Given the description of an element on the screen output the (x, y) to click on. 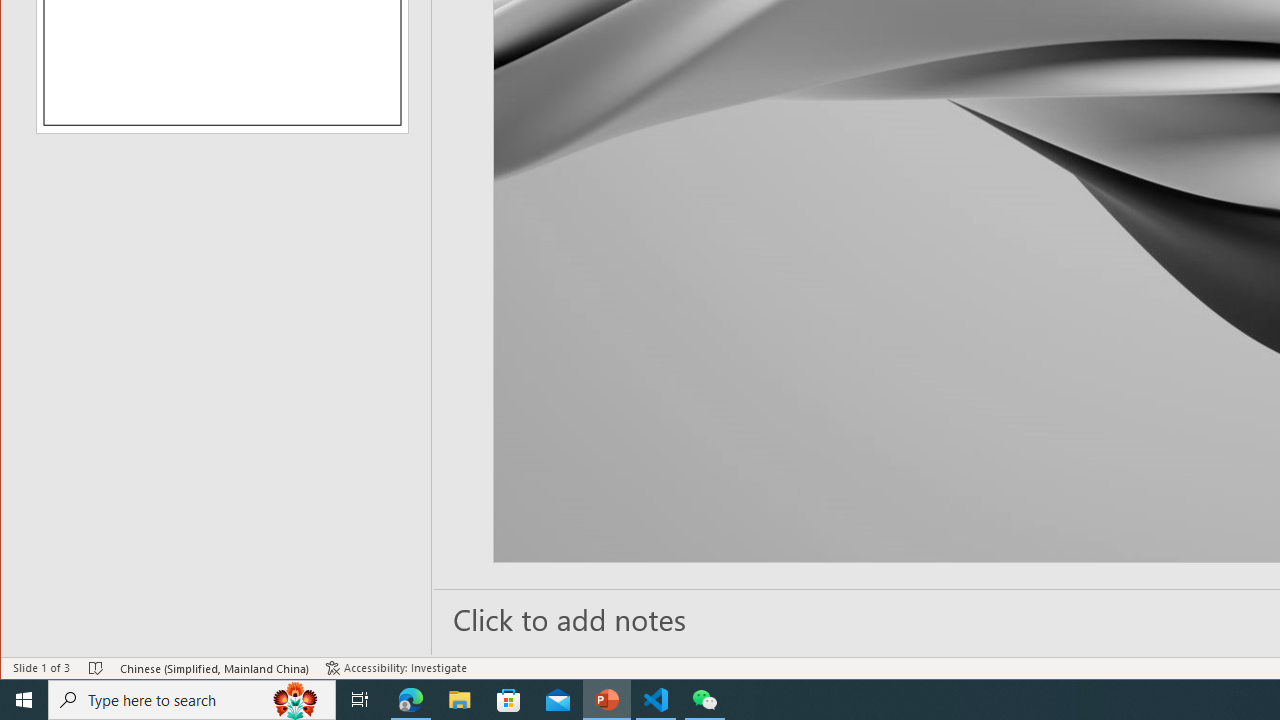
WeChat - 1 running window (704, 699)
